Given the description of an element on the screen output the (x, y) to click on. 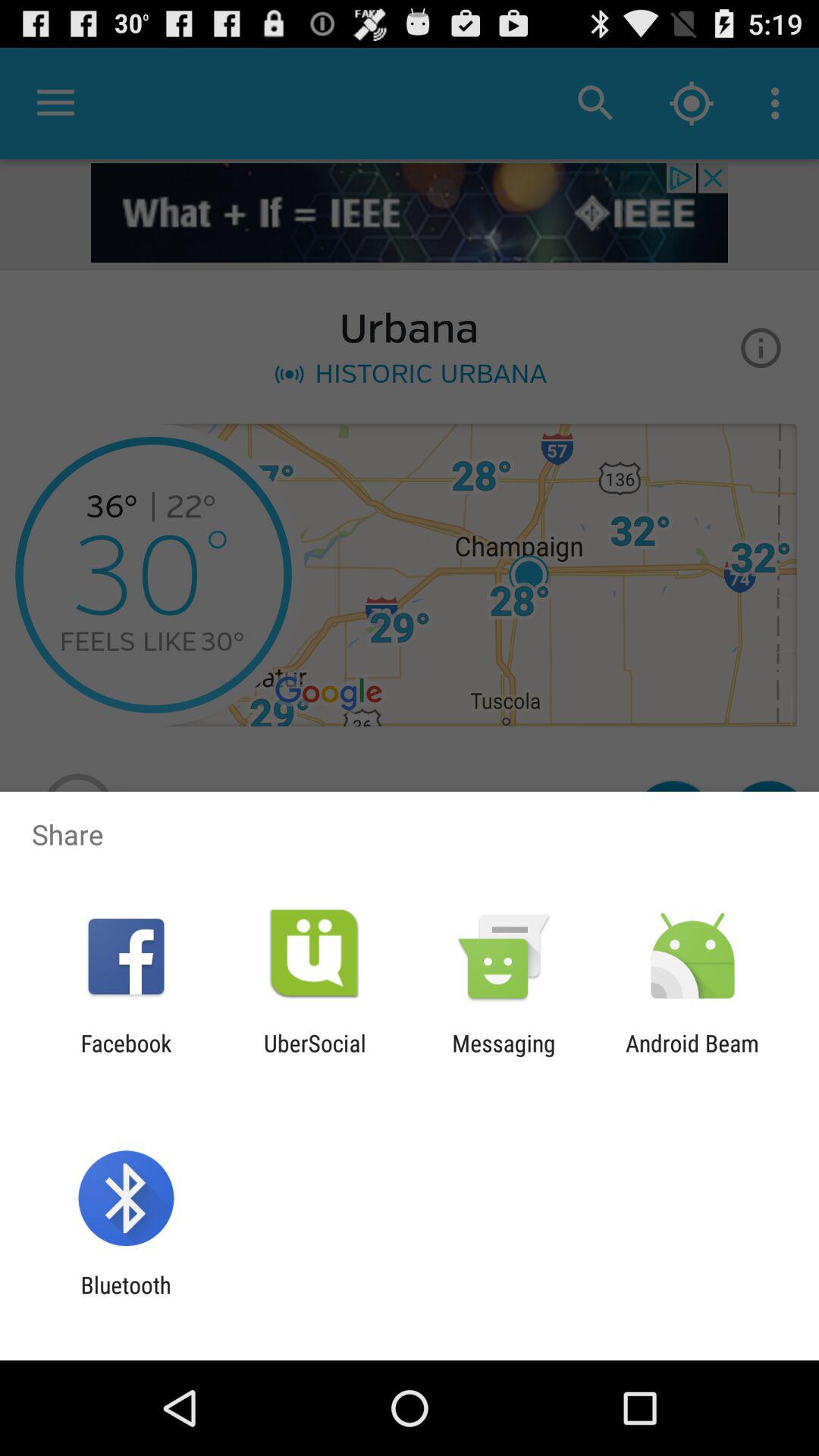
turn on the item next to ubersocial (125, 1056)
